Given the description of an element on the screen output the (x, y) to click on. 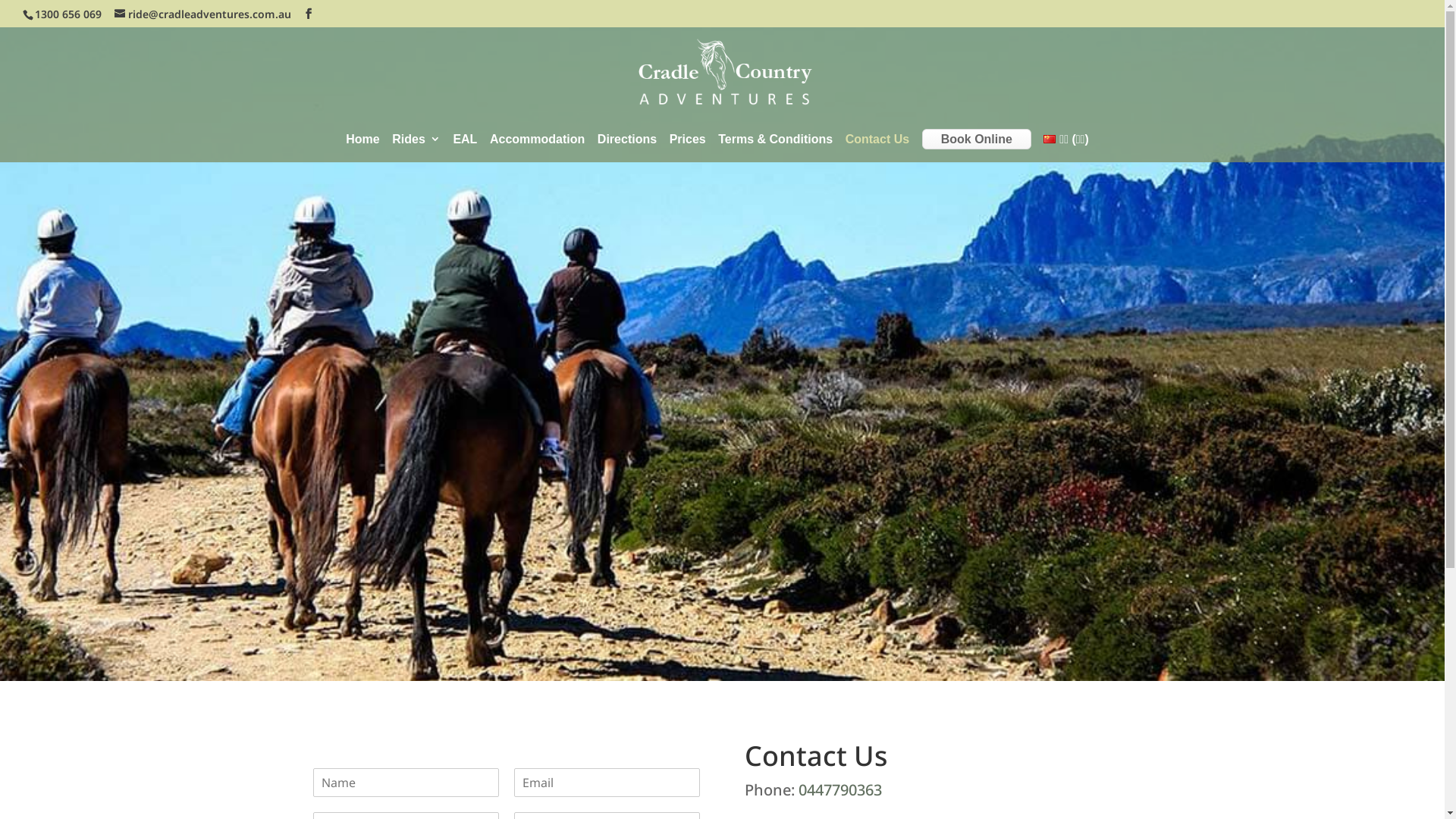
Prices Element type: text (687, 148)
Terms & Conditions Element type: text (775, 148)
1300 656 069 Element type: text (67, 13)
Book Online Element type: text (976, 138)
ride@cradleadventures.com.au Element type: text (202, 13)
Rides Element type: text (416, 148)
EAL Element type: text (464, 148)
Accommodation Element type: text (536, 148)
Directions Element type: text (626, 148)
0447790363 Element type: text (839, 789)
Contact Us Element type: text (877, 148)
Home Element type: text (362, 148)
